Given the description of an element on the screen output the (x, y) to click on. 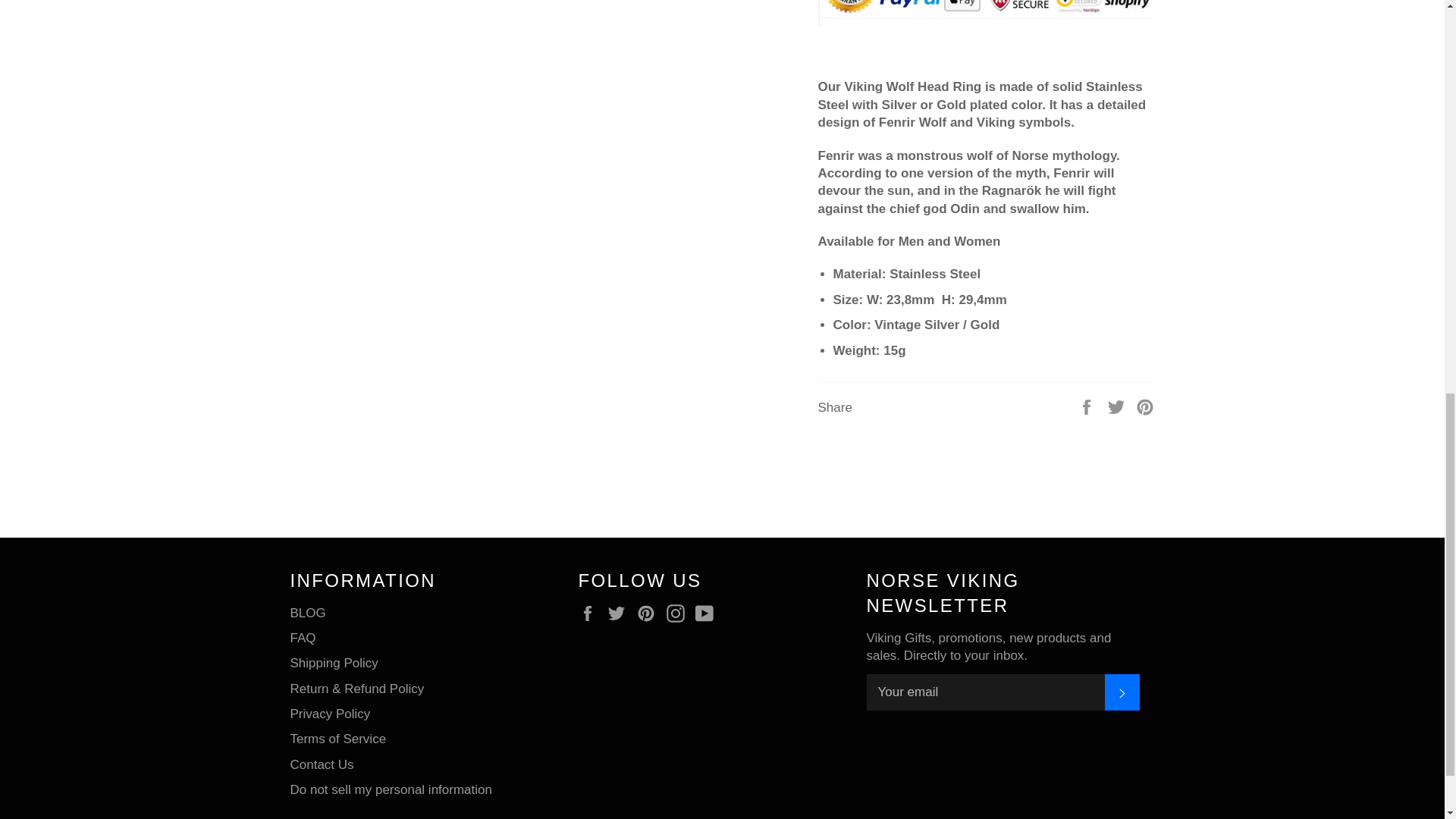
Viking Warriors on Twitter (620, 613)
Viking Warriors on Instagram (679, 613)
Pin on Pinterest (1144, 406)
Viking Warriors on Facebook (591, 613)
Viking Warriors on Pinterest (649, 613)
Viking Warriors on YouTube (707, 613)
Tweet on Twitter (1117, 406)
Share on Facebook (1088, 406)
